Given the description of an element on the screen output the (x, y) to click on. 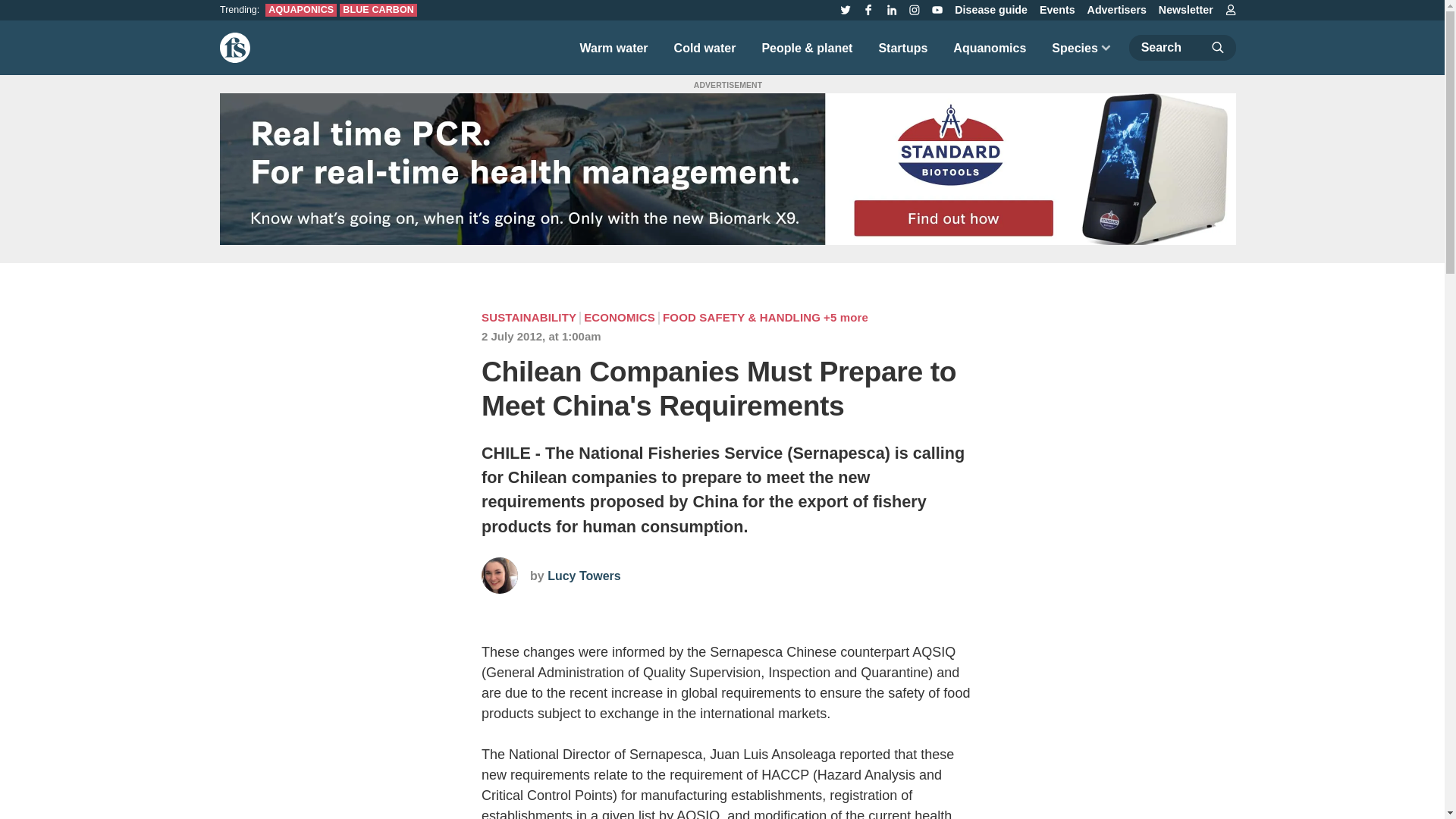
LinkedIn (891, 9)
YouTube (936, 9)
Aquanomics (989, 47)
Twitter (845, 9)
Return to The Fish Site homepage (234, 47)
Startups (902, 47)
Cold water (705, 47)
Facebook (868, 9)
Advertisers (1117, 10)
Instagram (914, 9)
Warm water (613, 47)
